Given the description of an element on the screen output the (x, y) to click on. 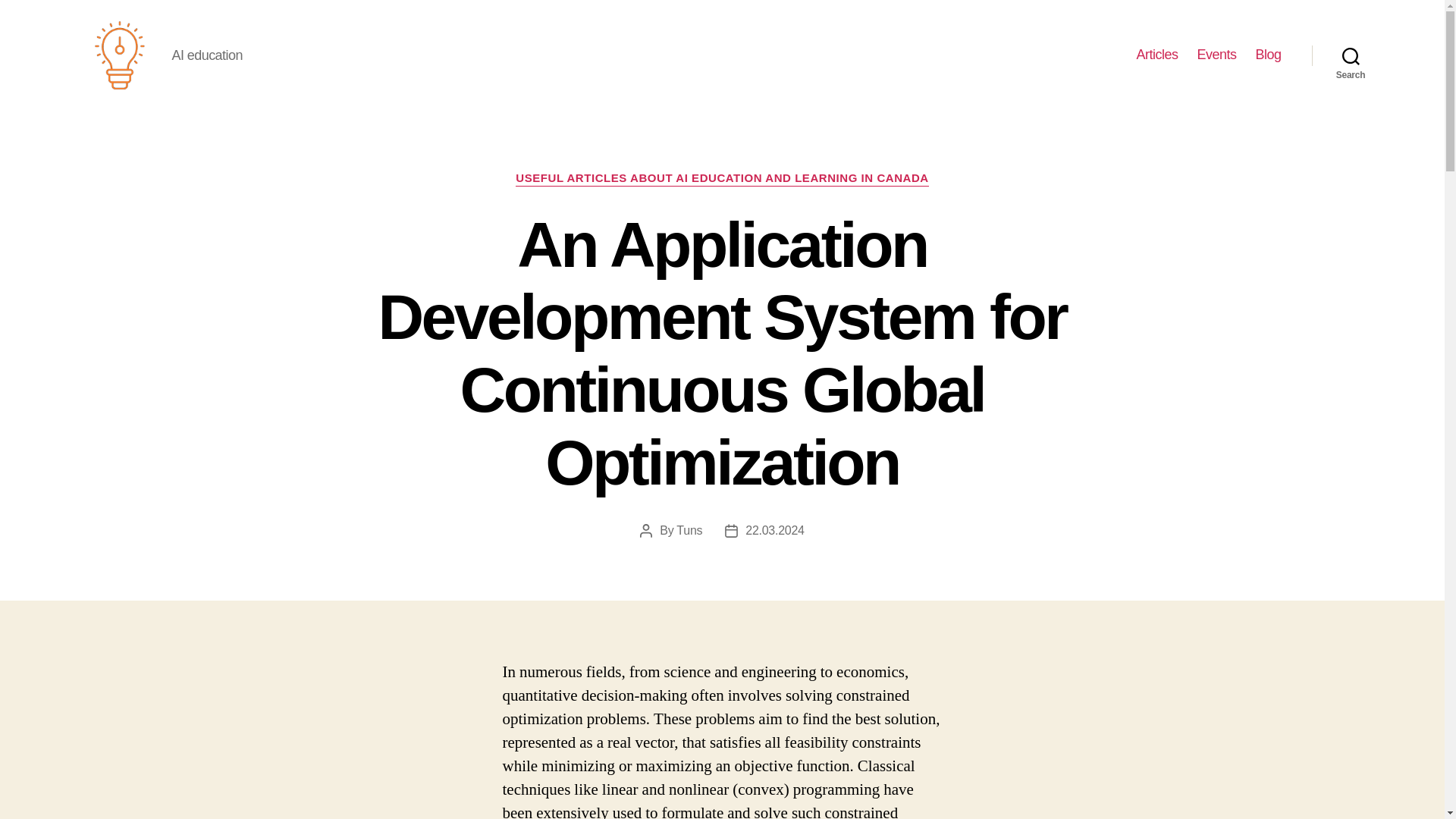
Articles (1156, 54)
22.03.2024 (774, 530)
Events (1216, 54)
USEFUL ARTICLES ABOUT AI EDUCATION AND LEARNING IN CANADA (721, 178)
Blog (1268, 54)
Search (1350, 55)
Tuns (689, 530)
